Given the description of an element on the screen output the (x, y) to click on. 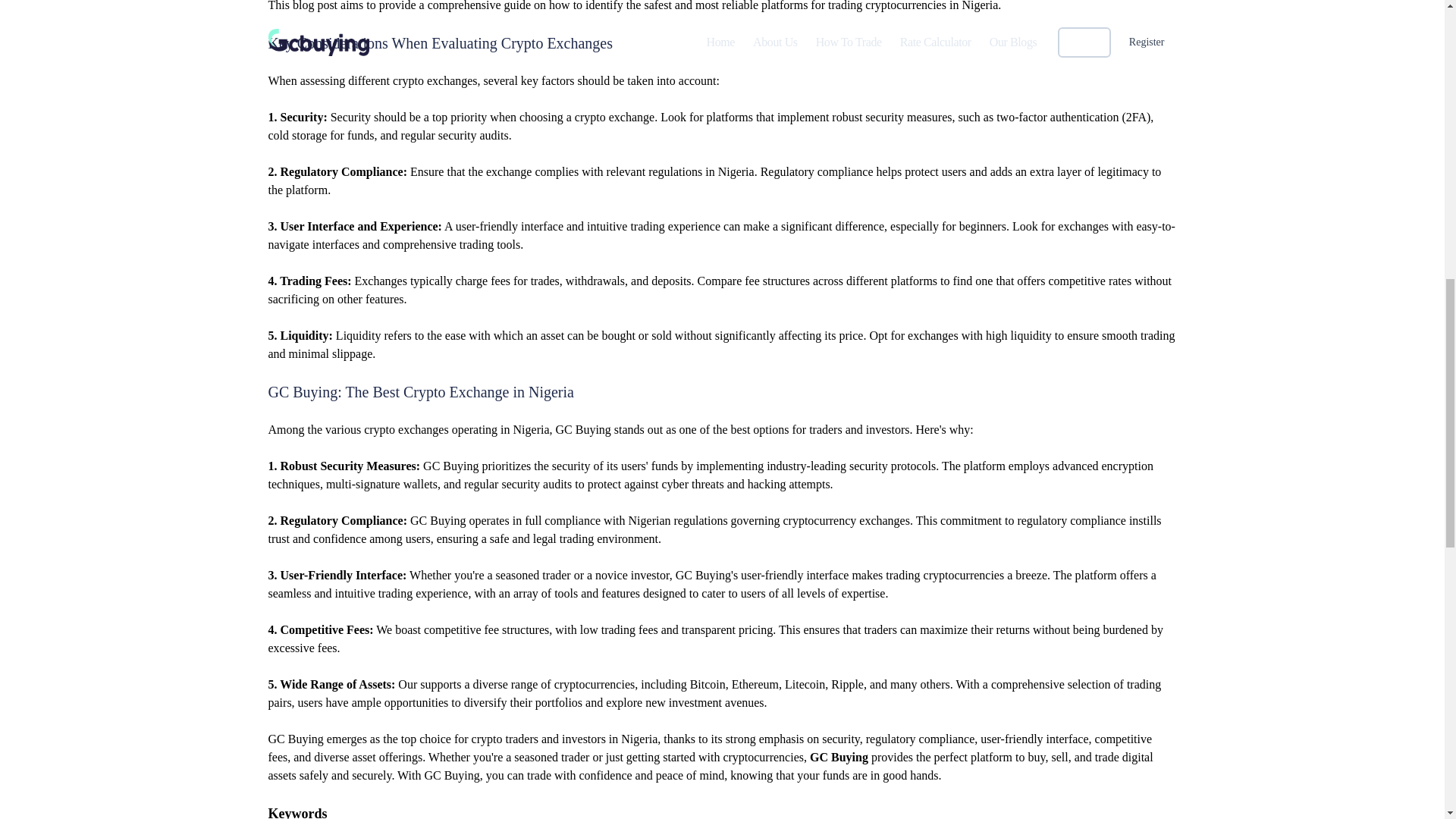
GC Buying (838, 757)
